Given the description of an element on the screen output the (x, y) to click on. 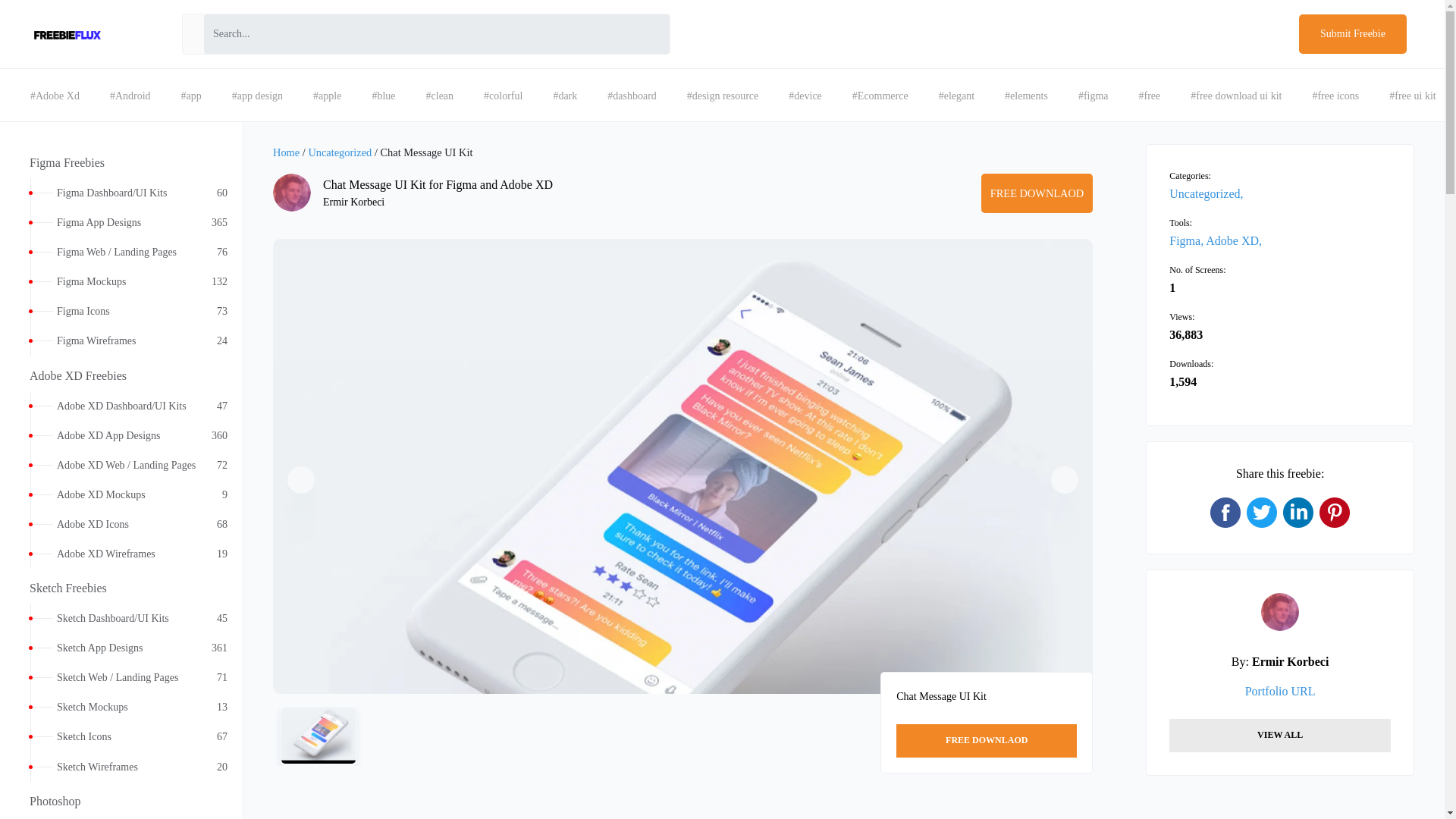
Download freebies from Ecommerce tag (121, 281)
Download freebies from app tag (880, 95)
Download freebies from free icons tag (190, 95)
Download freebies from dashboard tag (1335, 95)
FreebiesFlux (631, 95)
Download freebies from elegant tag (121, 310)
Download freebies from Adobe Xd tag (66, 35)
Download freebies from clean tag (956, 95)
Submit Freebie (54, 95)
Download freebies from apple tag (439, 95)
Download freebies from design resource tag (1352, 34)
Download freebies from free tag (327, 95)
Download freebies from app design tag (722, 95)
